Given the description of an element on the screen output the (x, y) to click on. 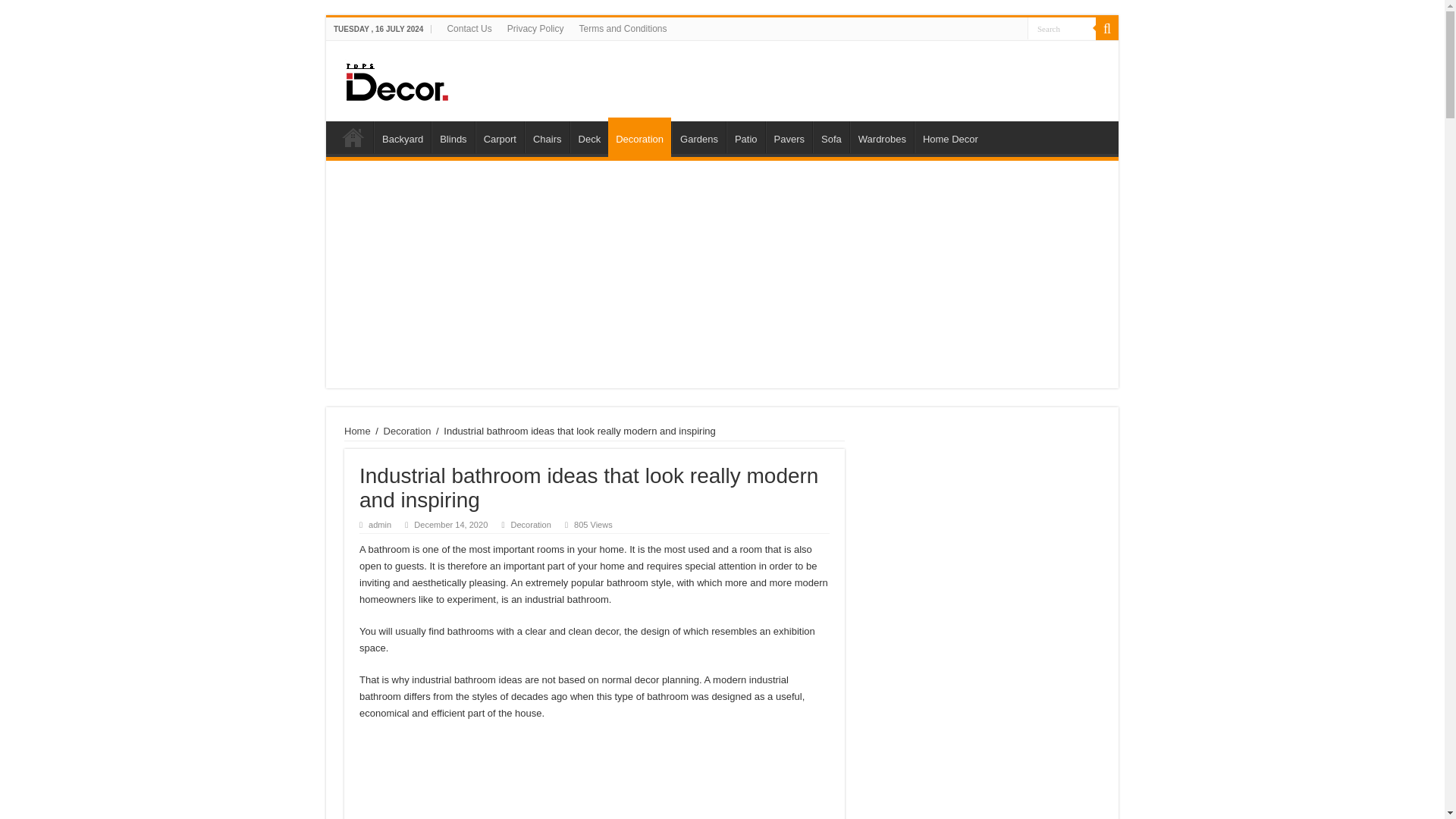
Home Decor (949, 137)
Search (1107, 28)
Sofa (830, 137)
Privacy Policy (535, 28)
Contact Us (469, 28)
Deck (589, 137)
Pavers (788, 137)
Home (352, 137)
Patio (745, 137)
Wardrobes (882, 137)
admin (379, 524)
Search (1061, 28)
Search (1061, 28)
Terms and Conditions (622, 28)
